Given the description of an element on the screen output the (x, y) to click on. 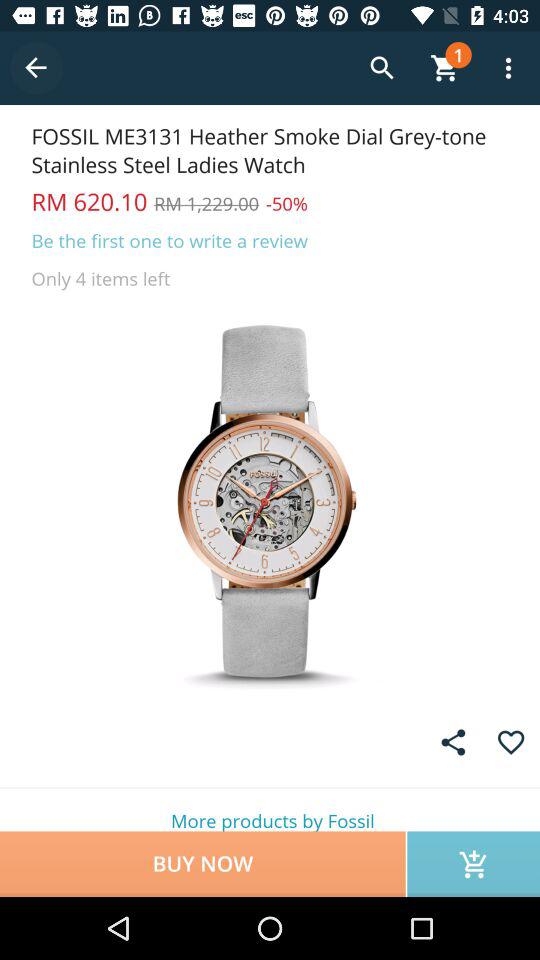
swipe to more products by (270, 809)
